Given the description of an element on the screen output the (x, y) to click on. 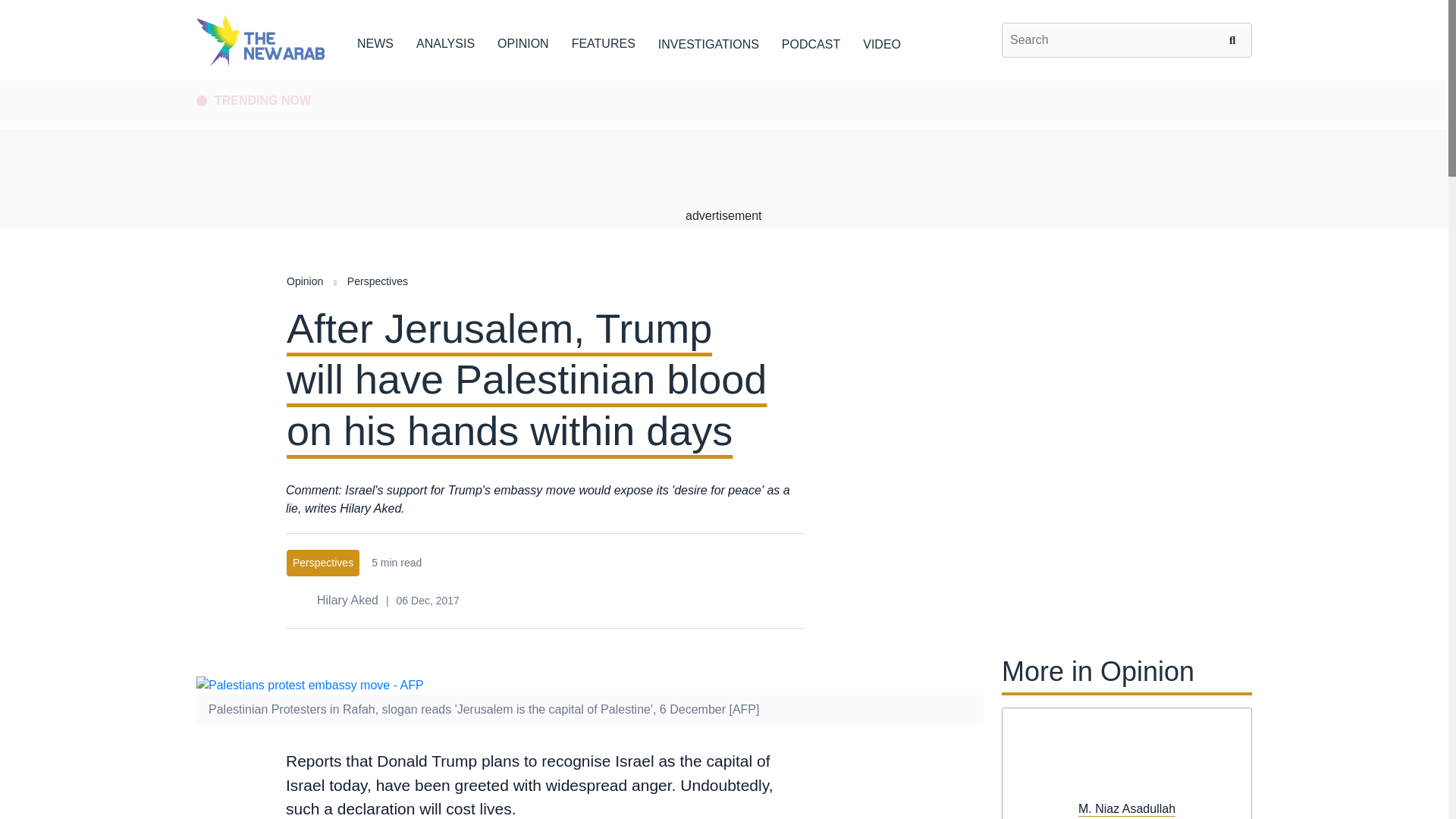
OPINION (523, 41)
ANALYSIS (445, 41)
Search (1234, 39)
NEWS (375, 41)
Skip to main content (724, 81)
